Given the description of an element on the screen output the (x, y) to click on. 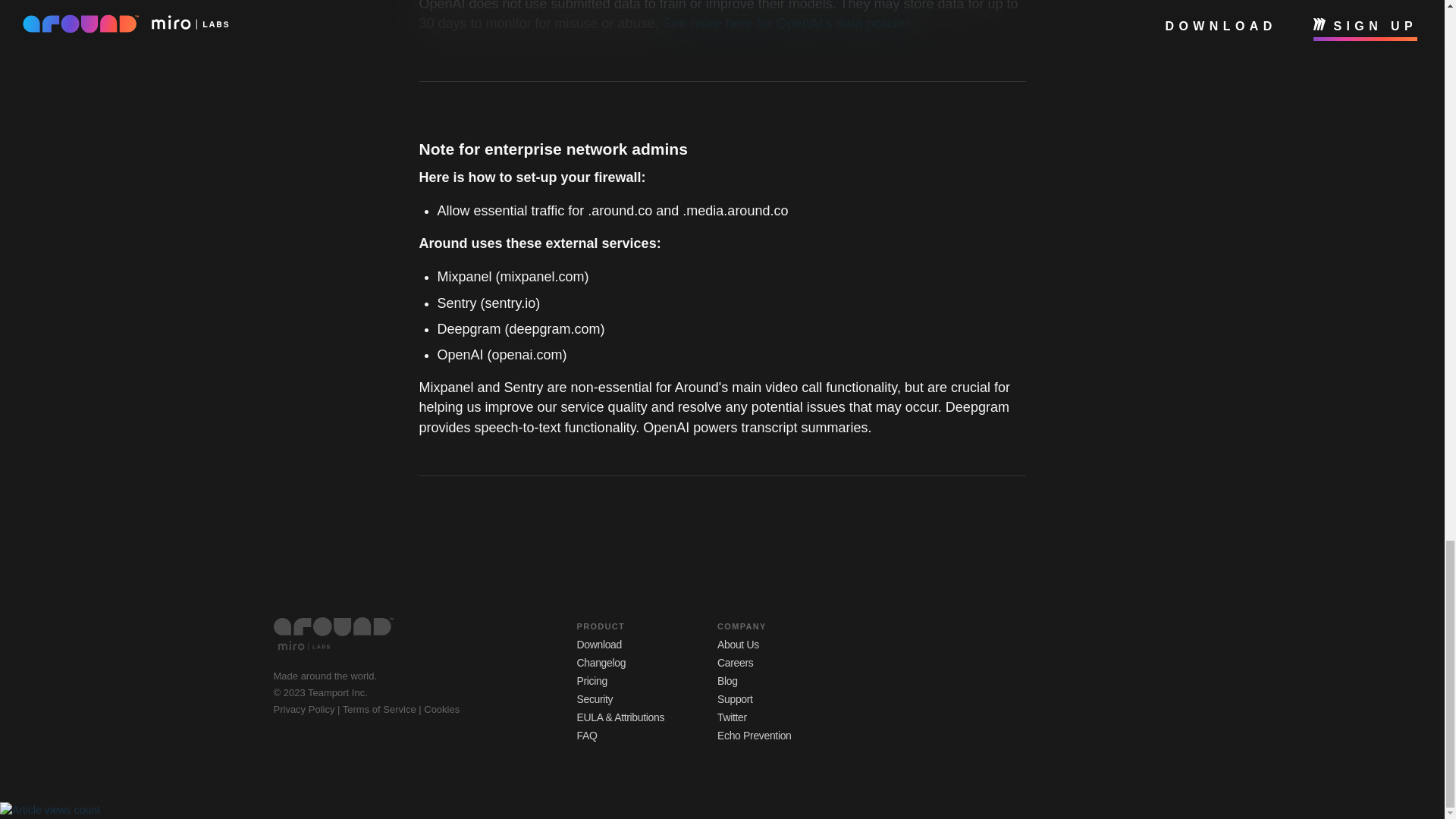
Download (598, 644)
Pricing (591, 680)
Security (594, 698)
Changelog (601, 662)
Cookies (441, 708)
See more here for OpenAI's data policies. (788, 23)
Twitter (731, 717)
About Us (737, 644)
FAQ (586, 735)
Terms of Service (380, 708)
Blog (727, 680)
Privacy Policy (305, 708)
Support (734, 698)
Echo Prevention (753, 735)
Careers (734, 662)
